Given the description of an element on the screen output the (x, y) to click on. 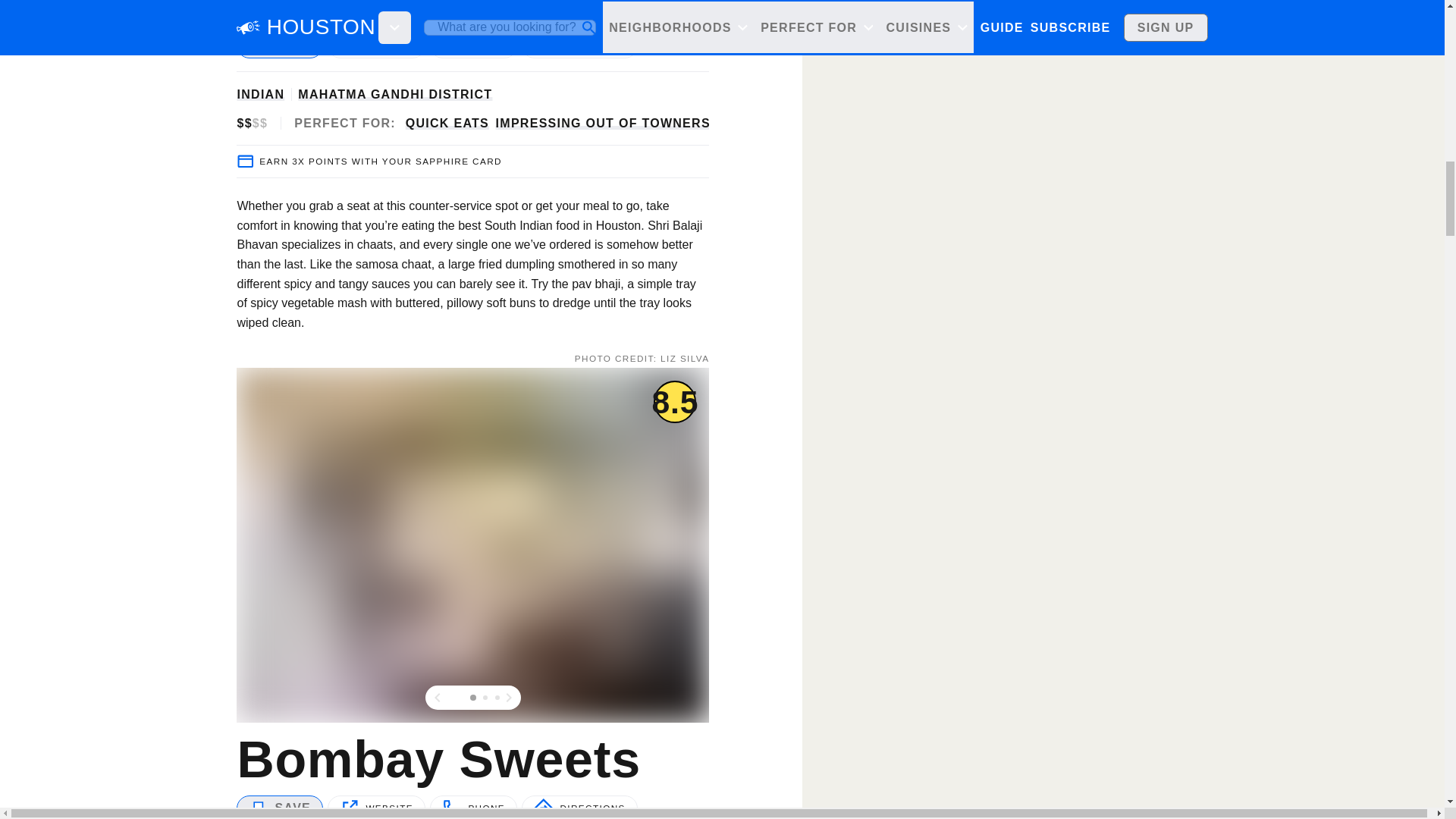
WEBSITE (376, 45)
SAVE (278, 45)
PHONE (472, 45)
INDIAN (259, 94)
DIRECTIONS (579, 45)
Shri Balaji Bhavan (464, 16)
